Given the description of an element on the screen output the (x, y) to click on. 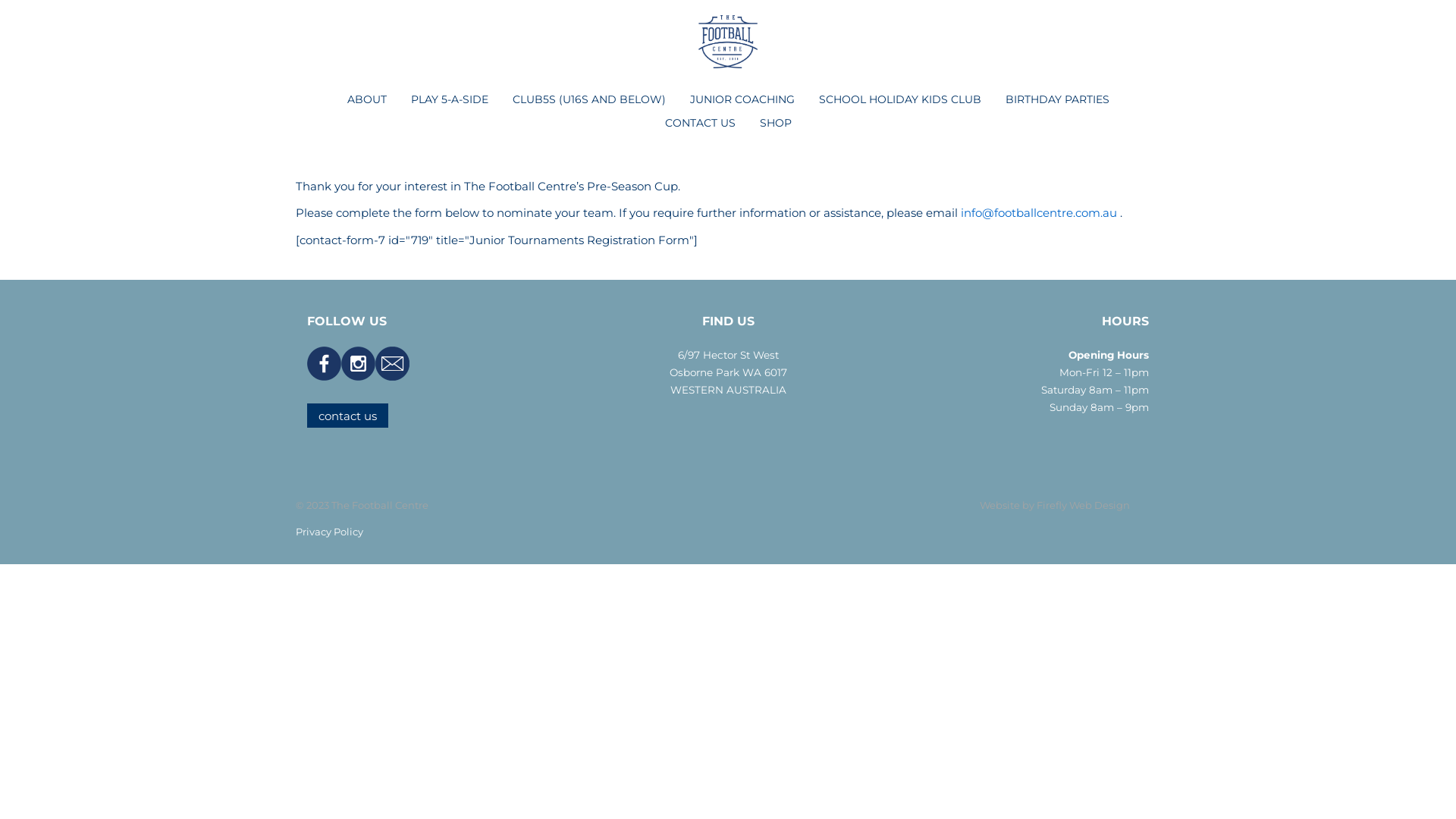
ABOUT Element type: text (366, 100)
Follow us on Instagram Element type: hover (358, 362)
contact us Element type: text (347, 415)
JUNIOR COACHING Element type: text (742, 100)
Email us Element type: hover (392, 362)
Privacy Policy Element type: text (329, 531)
CONTACT US Element type: text (699, 123)
Website by Firefly Web Design Element type: text (1054, 505)
The Football Centre Element type: hover (727, 45)
Follow us on facebook Element type: hover (324, 362)
BIRTHDAY PARTIES Element type: text (1057, 100)
Skip to content Element type: text (0, 0)
CLUB5S (U16S AND BELOW) Element type: text (588, 100)
SCHOOL HOLIDAY KIDS CLUB Element type: text (900, 100)
PLAY 5-A-SIDE Element type: text (449, 100)
SHOP Element type: text (775, 123)
info@footballcentre.com.au Element type: text (1038, 212)
